Given the description of an element on the screen output the (x, y) to click on. 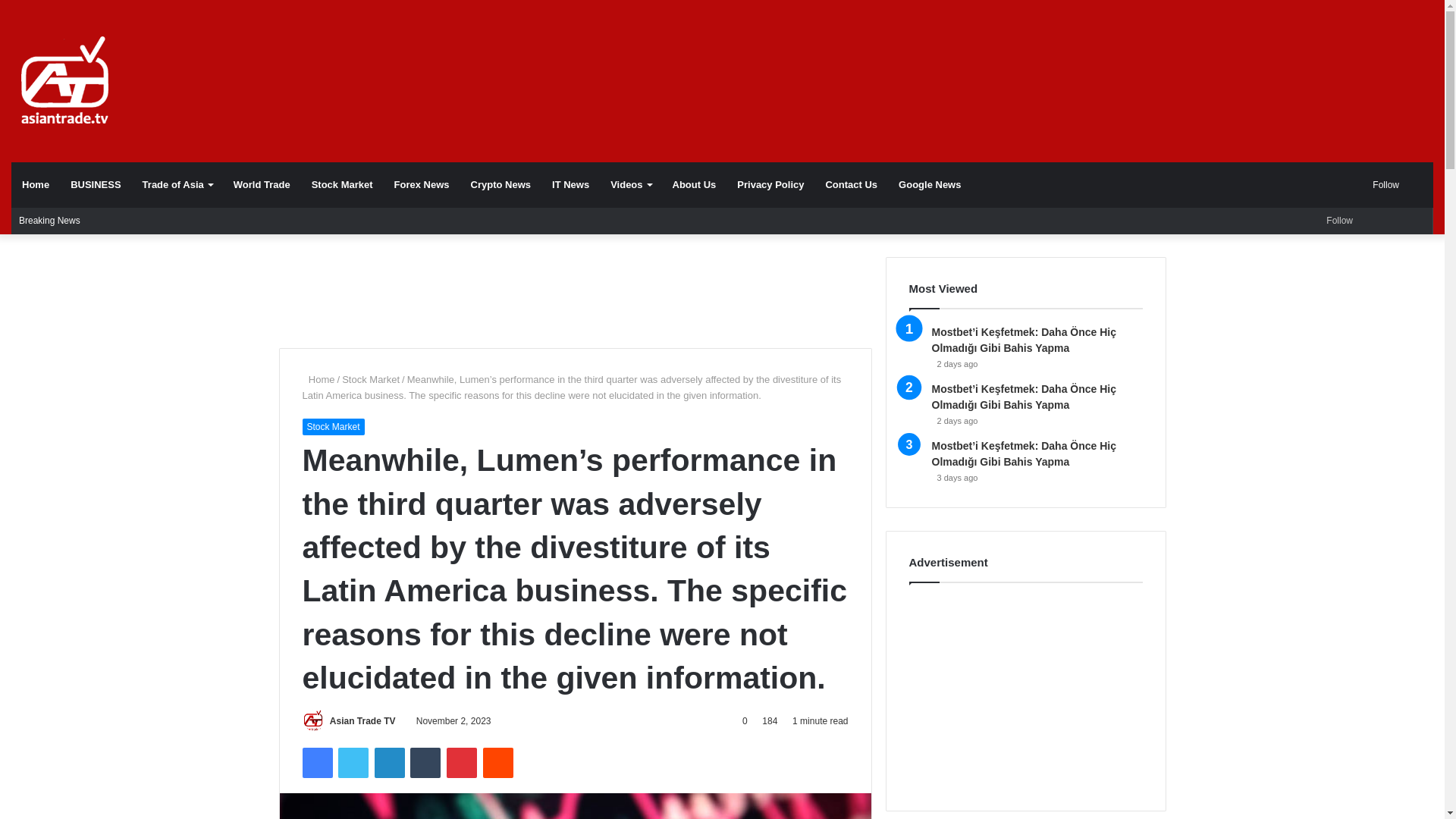
Privacy Policy (769, 185)
World Trade (261, 185)
Trade of Asia (177, 185)
Asian Trade TV (363, 720)
Follow (1381, 185)
Forex News (422, 185)
Contact Us (850, 185)
Crypto News (500, 185)
Tumblr (425, 762)
BUSINESS (95, 185)
